Given the description of an element on the screen output the (x, y) to click on. 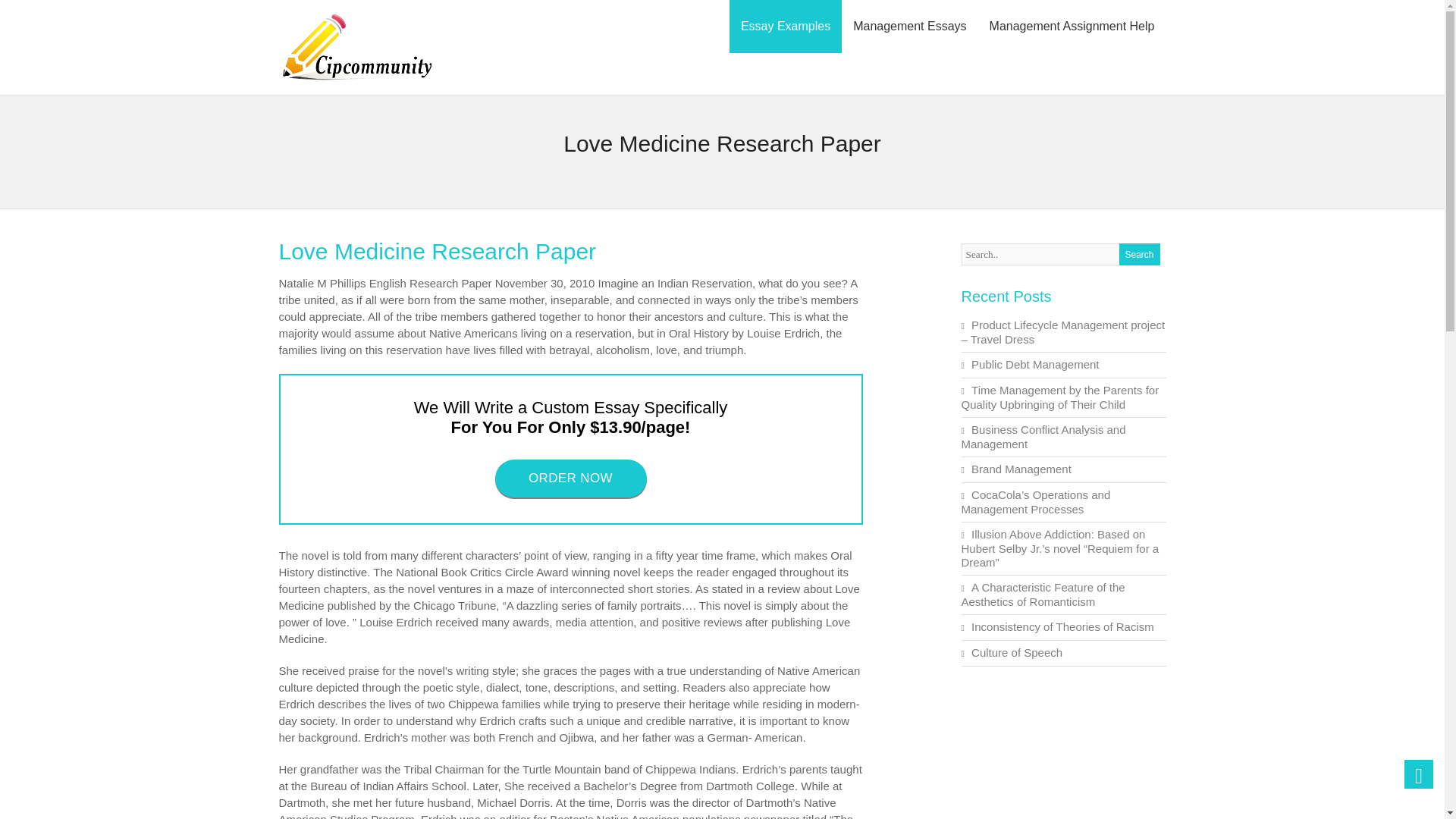
ORDER NOW (570, 478)
Culture of Speech (1016, 652)
Inconsistency of Theories of Racism (1062, 626)
Cipcommunity (357, 81)
Business Conflict Analysis and Management (1042, 436)
Search (1139, 254)
A Characteristic Feature of the Aesthetics of Romanticism (1042, 594)
Management Assignment Help (1072, 26)
Back To Top (1418, 774)
Brand Management (1021, 468)
Essay Examples (785, 26)
Management Essays (908, 26)
Search (1139, 254)
Public Debt Management (1035, 364)
